Given the description of an element on the screen output the (x, y) to click on. 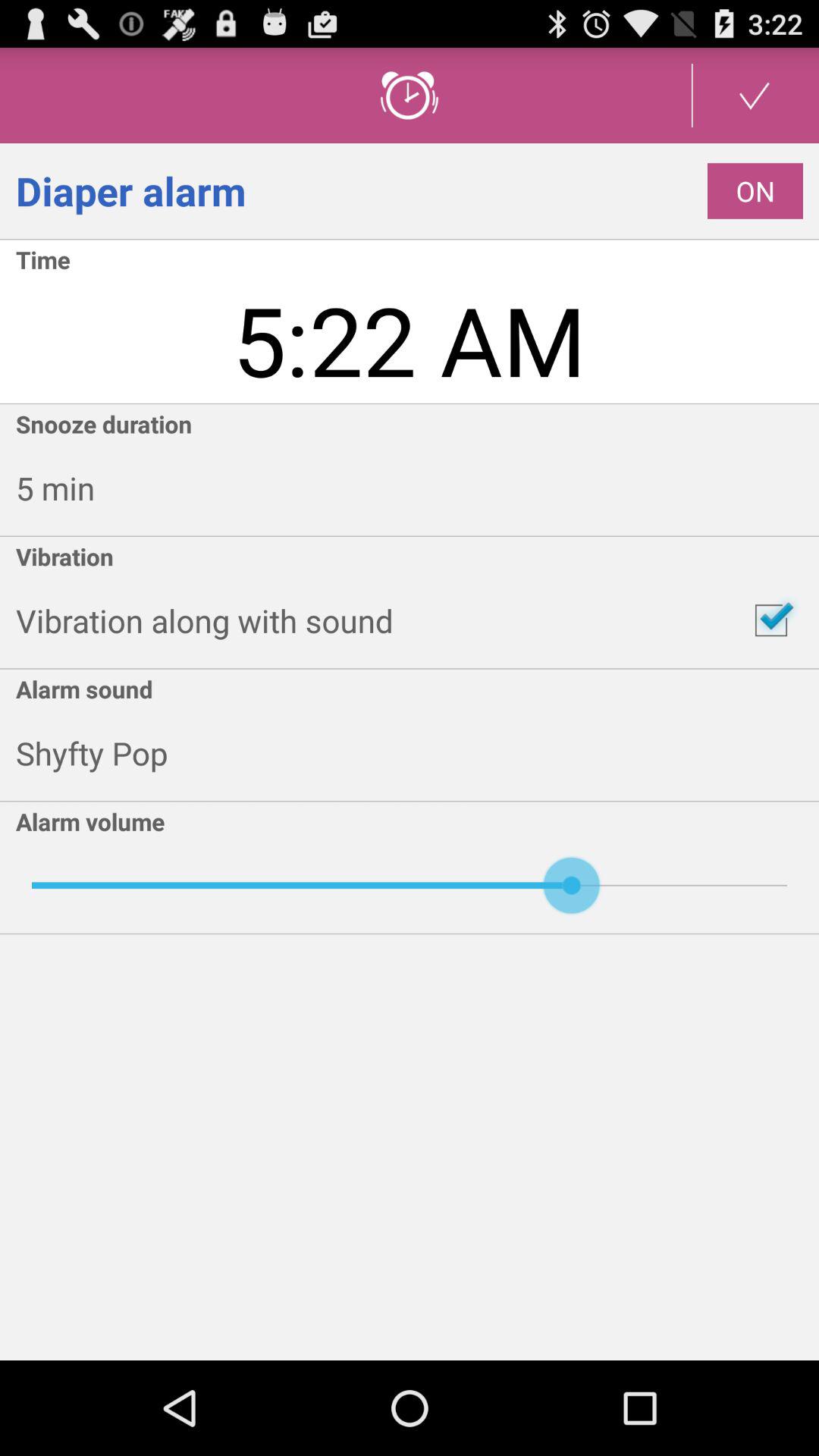
flip until the on (755, 190)
